Given the description of an element on the screen output the (x, y) to click on. 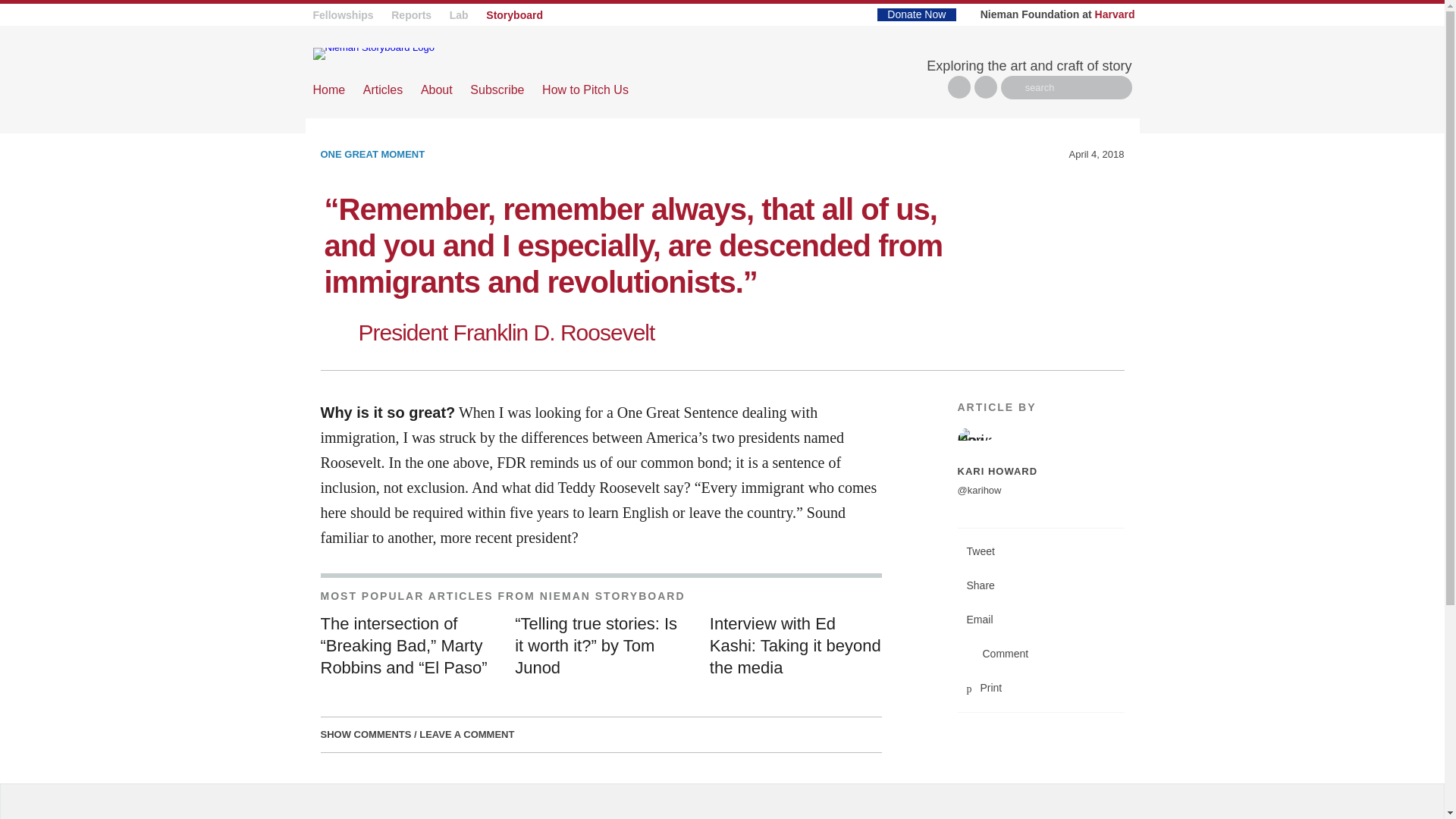
How to Pitch Us (584, 89)
Comment (1040, 653)
Home (329, 89)
KARI HOWARD (996, 471)
Fellowships (342, 15)
Donate Now (915, 14)
Storyboard (514, 15)
Kari Howard (1040, 441)
Share (1040, 585)
Tweet (1040, 551)
